Given the description of an element on the screen output the (x, y) to click on. 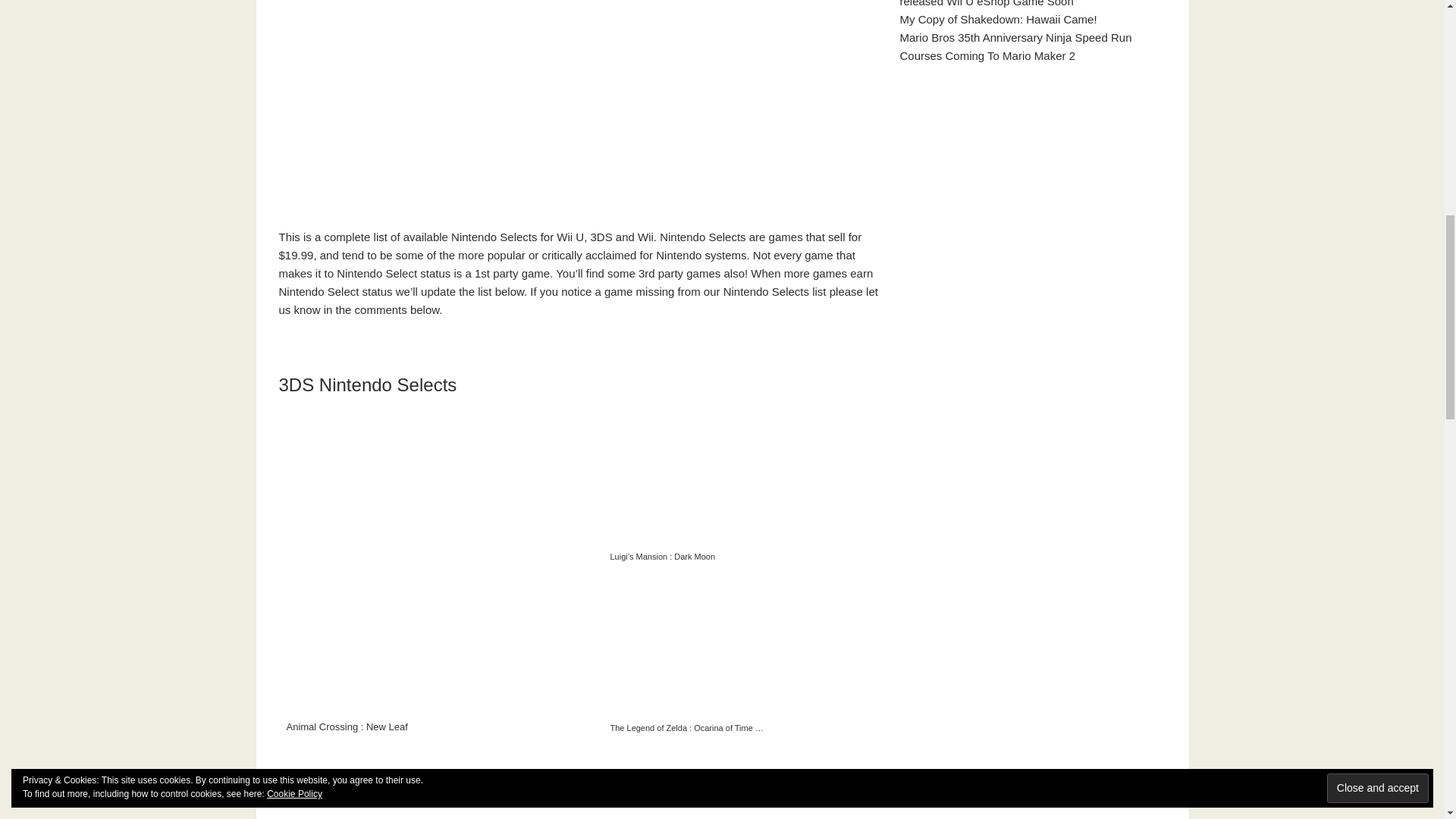
Nintendo Selects Tomodachi Life 3DS (521, 781)
Nintendo Selects Luigi's Mansion Dark Moon 3DS (682, 486)
Nintendo Selects Animal Crossing New Leaf 3DS (441, 572)
Nintendo Selects Zelda Ocarina of Time 3D 3DS (682, 657)
Nintendo Selects Lego City The Chase Begins 3DS (360, 781)
